Given the description of an element on the screen output the (x, y) to click on. 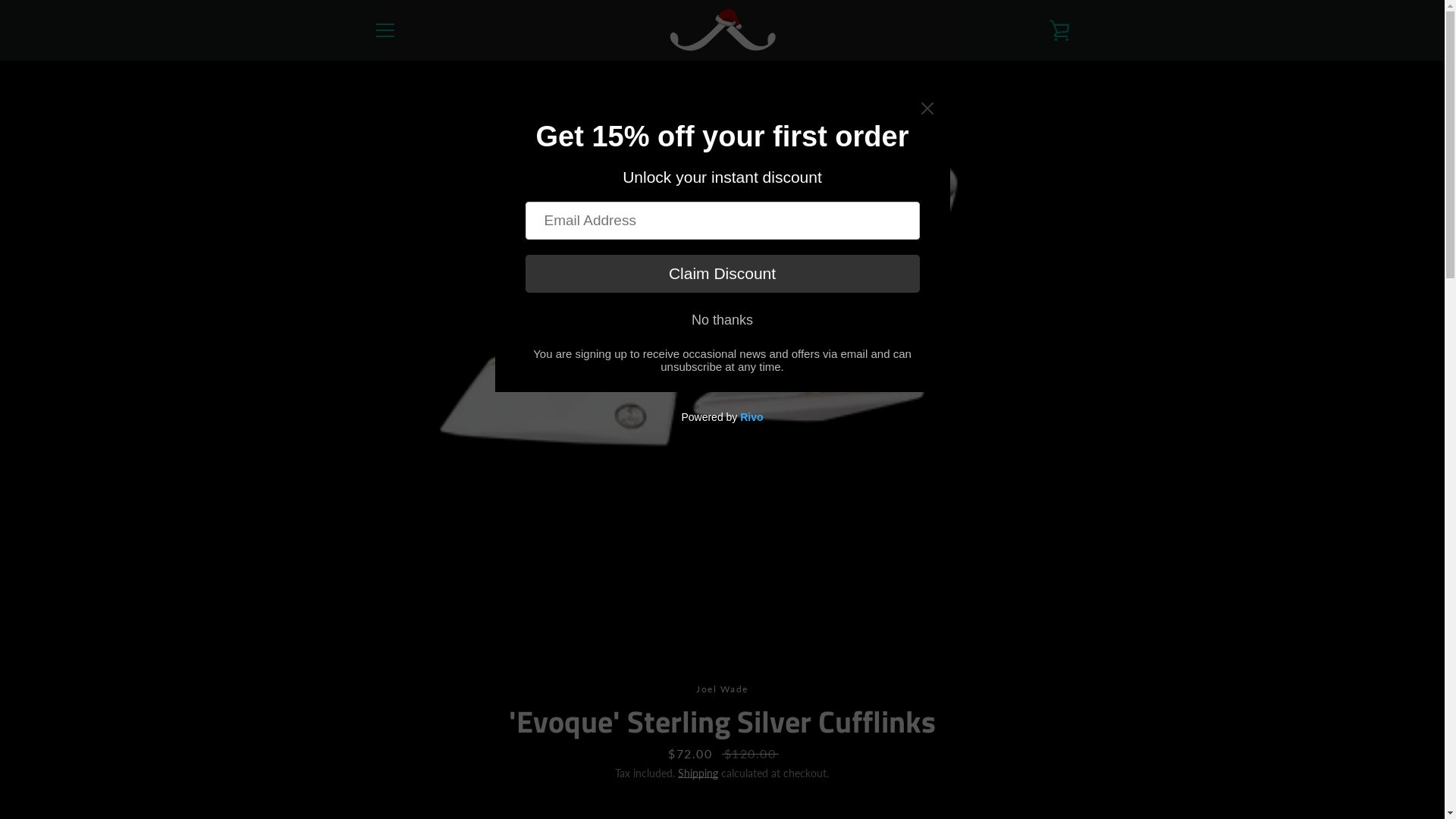
MENU Element type: text (384, 30)
Shipping Element type: text (697, 772)
Skip to content Element type: text (0, 0)
VIEW CART Element type: text (1059, 30)
